Given the description of an element on the screen output the (x, y) to click on. 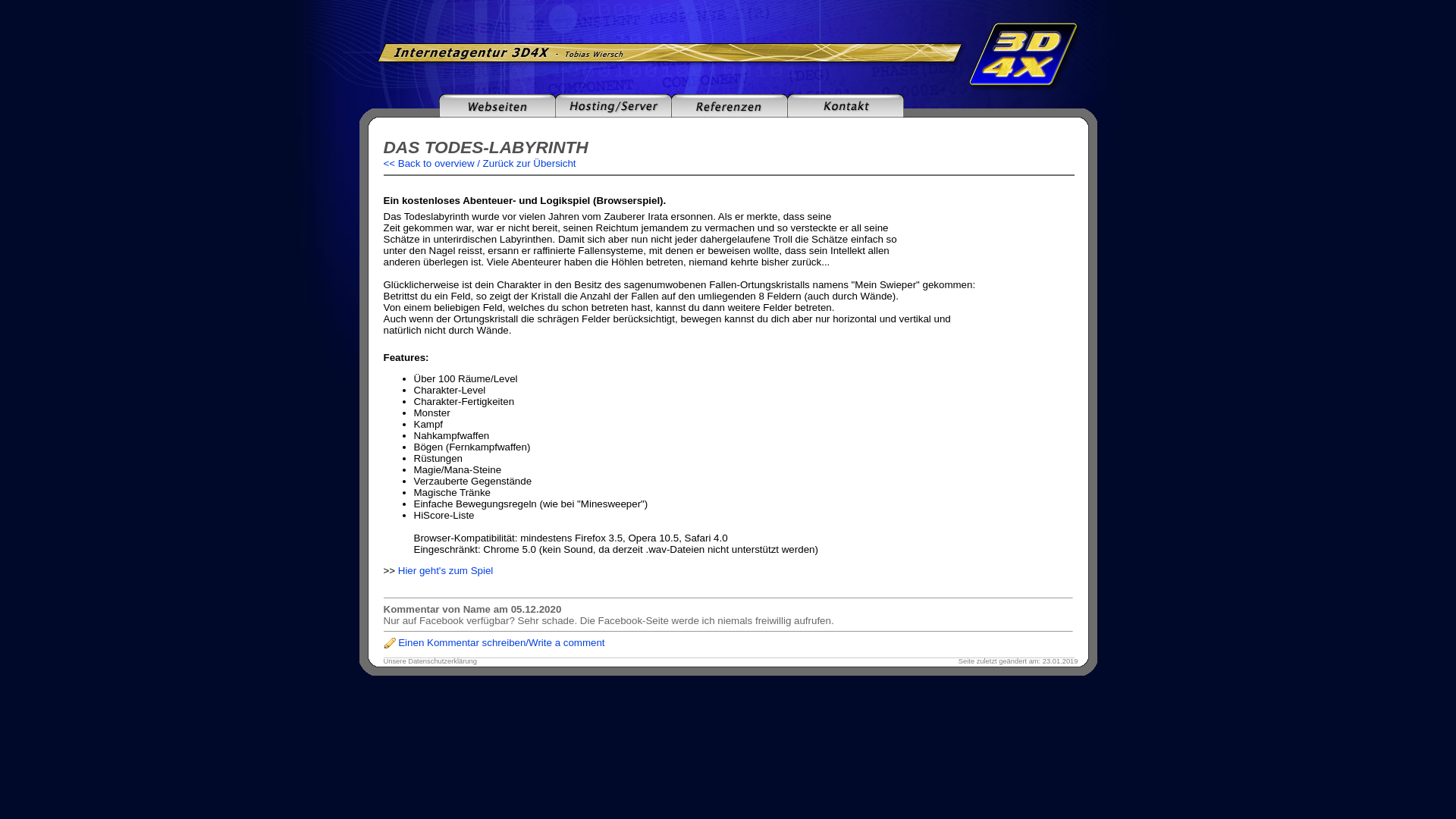
Einen Kommentar schreiben/Write a comment Element type: text (501, 642)
Hier geht's zum Spiel Element type: text (445, 570)
